Given the description of an element on the screen output the (x, y) to click on. 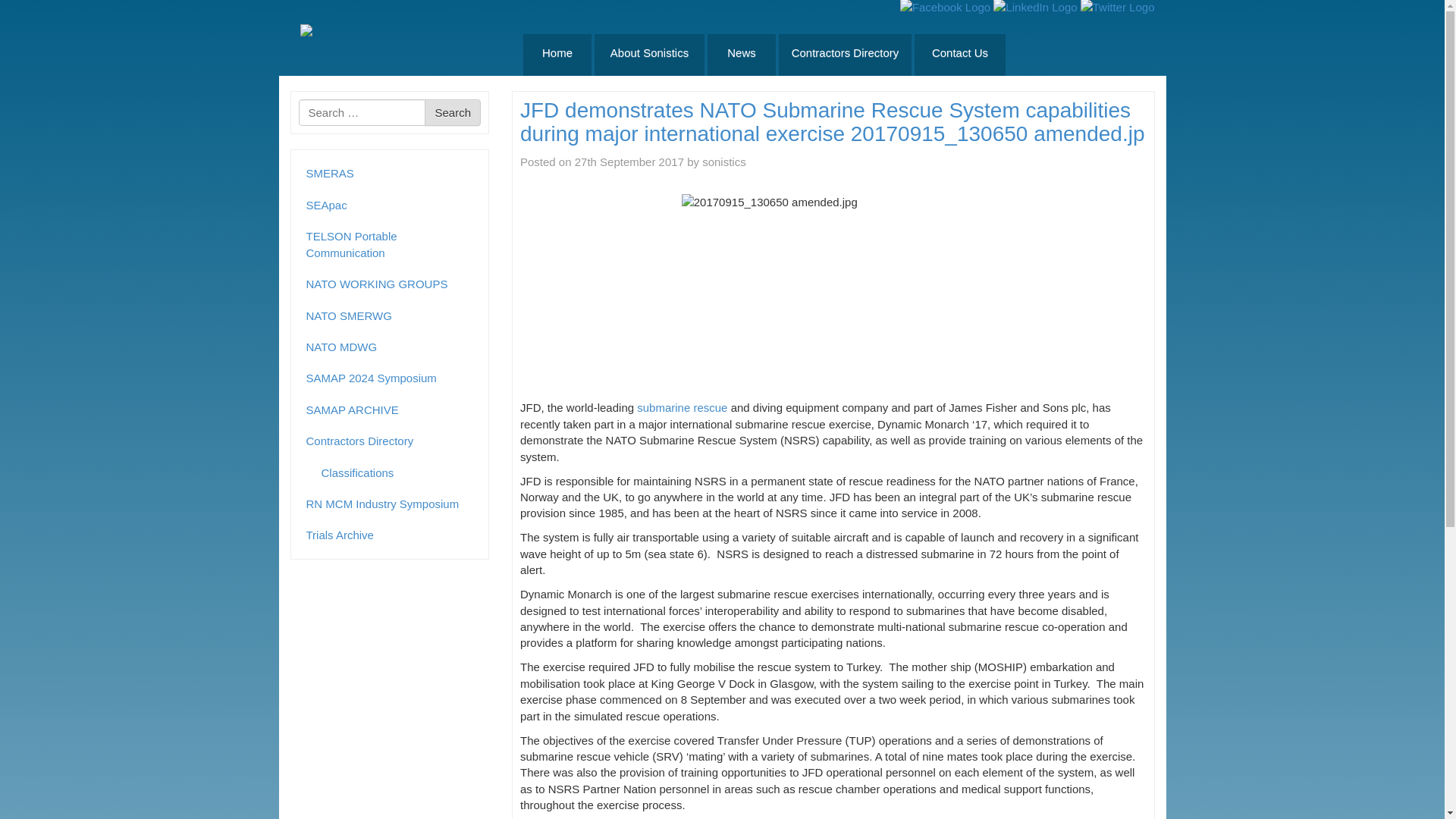
View all posts by sonistics (723, 161)
SEApac (389, 204)
sonistics (723, 161)
SAMAP ARCHIVE (389, 409)
NATO WORKING GROUPS (389, 283)
TELSON Portable Communication (389, 244)
submarine rescue (681, 407)
SMERAS (389, 173)
Home (556, 55)
Contractors Directory (389, 440)
